Given the description of an element on the screen output the (x, y) to click on. 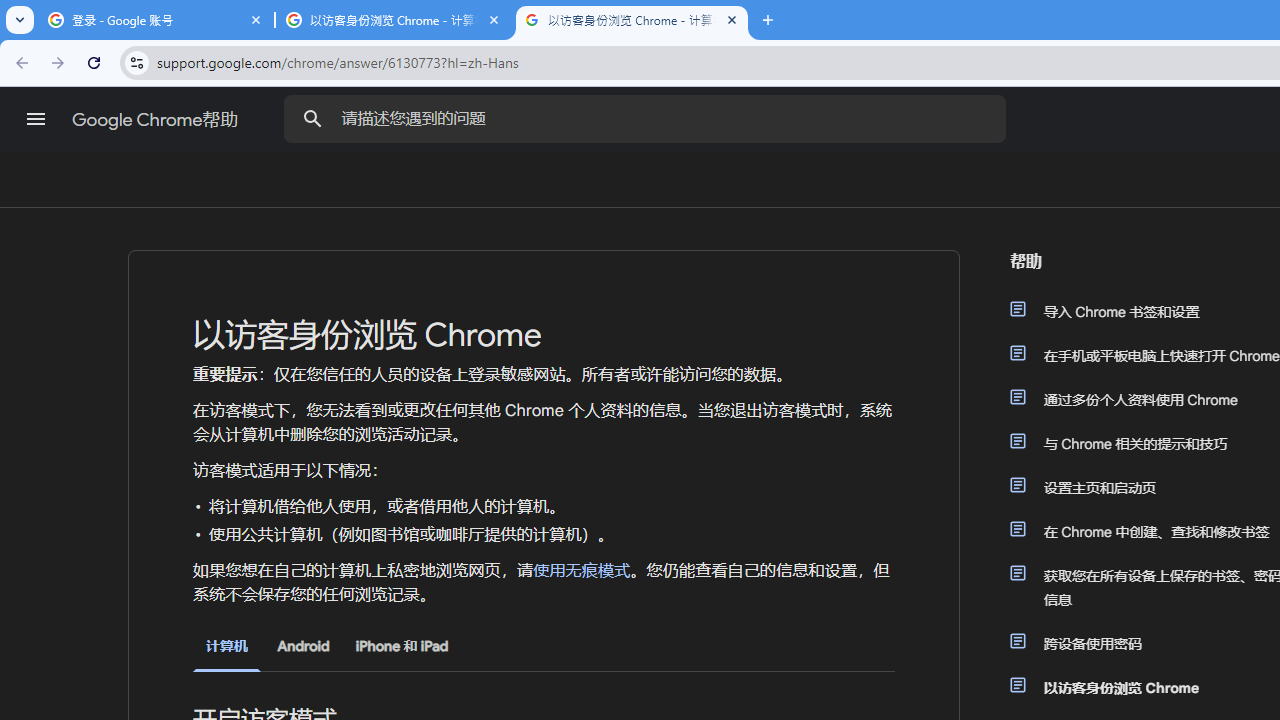
Android (303, 646)
